Given the description of an element on the screen output the (x, y) to click on. 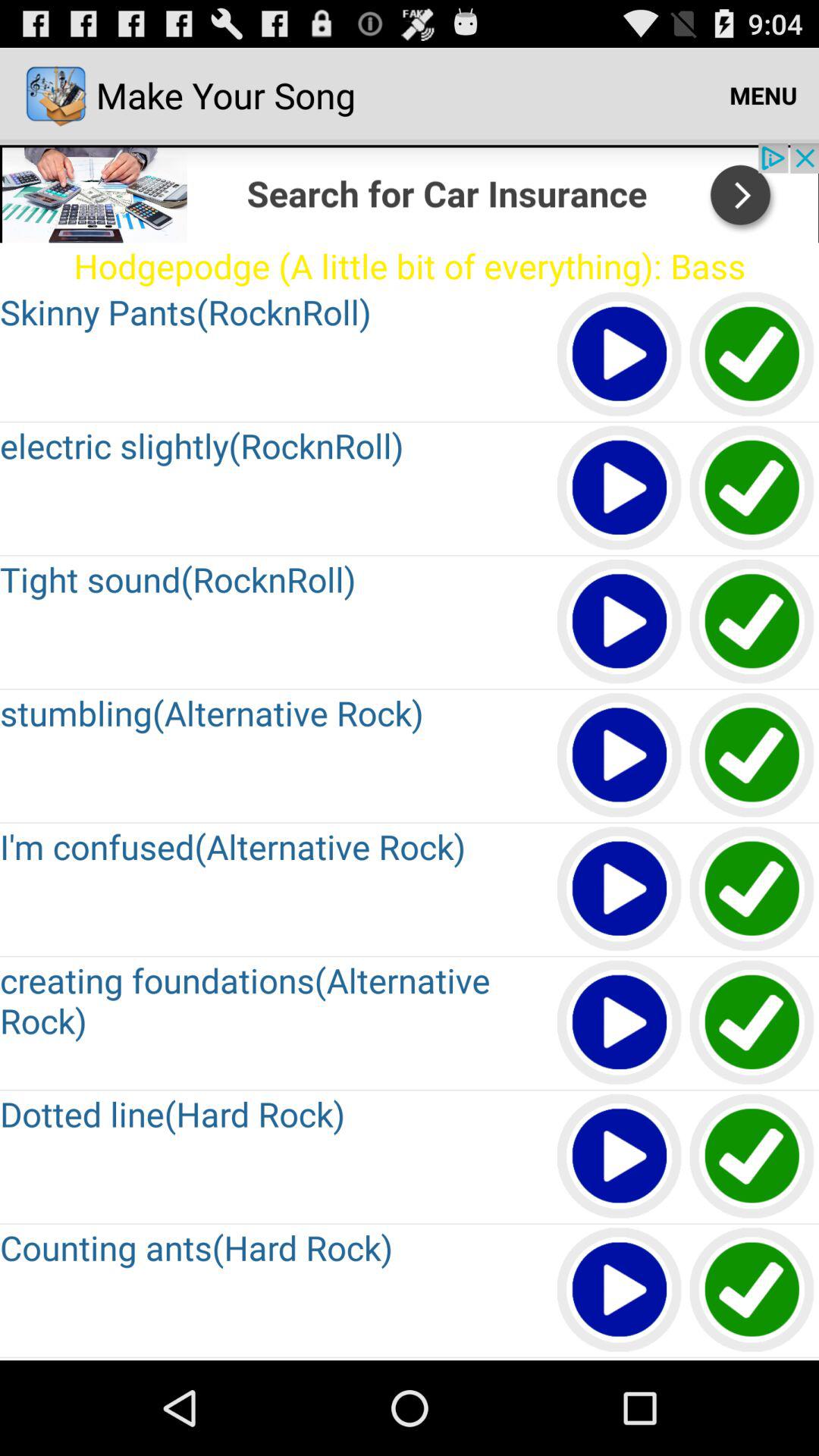
play button (619, 1023)
